Given the description of an element on the screen output the (x, y) to click on. 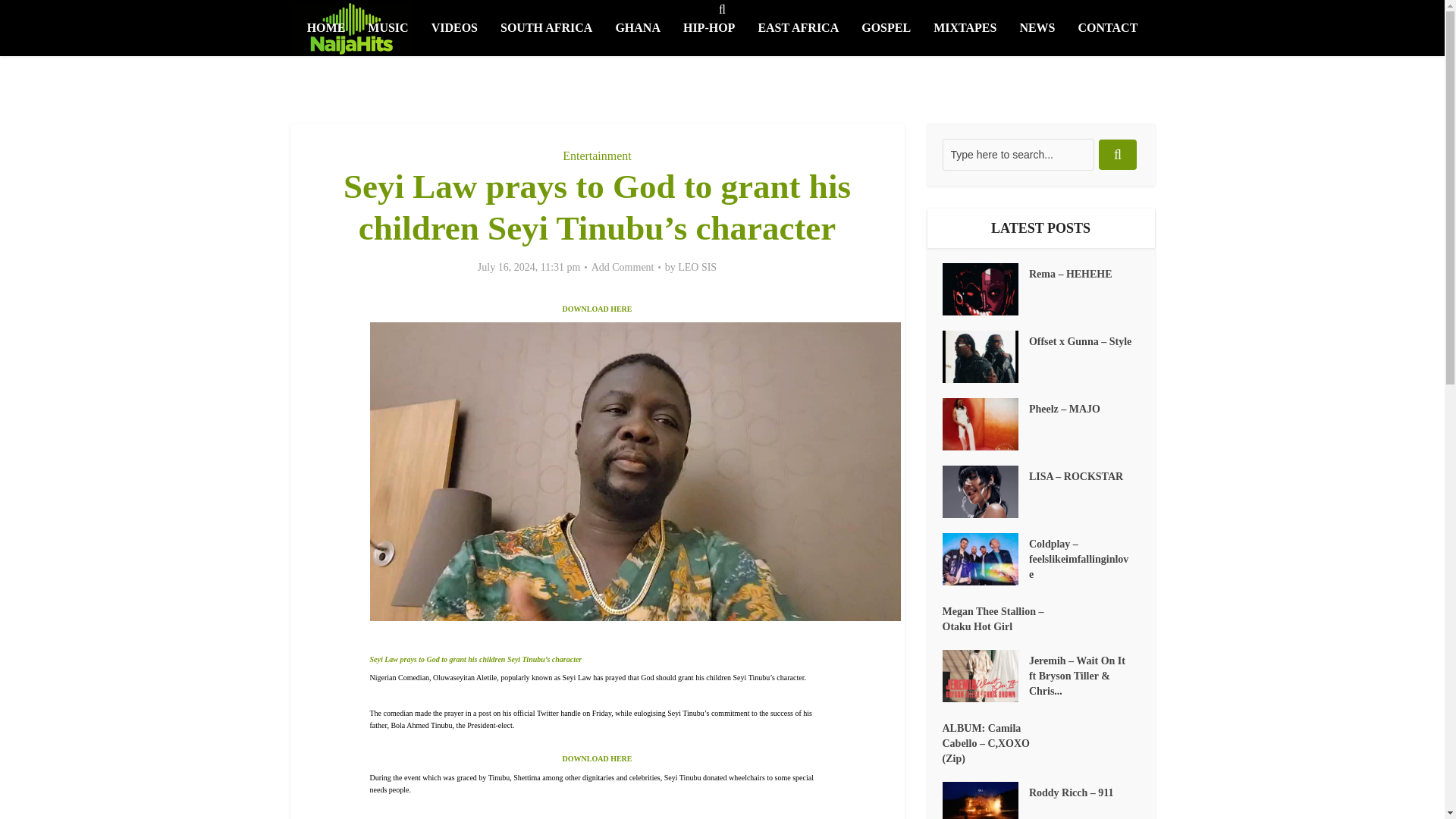
VIDEOS (454, 28)
CONTACT (1108, 28)
SOUTH AFRICA (546, 28)
HIP-HOP (708, 28)
GOSPEL (885, 28)
GHANA (637, 28)
Type here to search... (1017, 154)
LEO SIS (697, 267)
MIXTAPES (964, 28)
Type here to search... (1017, 154)
Add Comment (622, 267)
NEWS (1036, 28)
DOWNLOAD HERE (596, 758)
EAST AFRICA (797, 28)
HOME (325, 28)
